Given the description of an element on the screen output the (x, y) to click on. 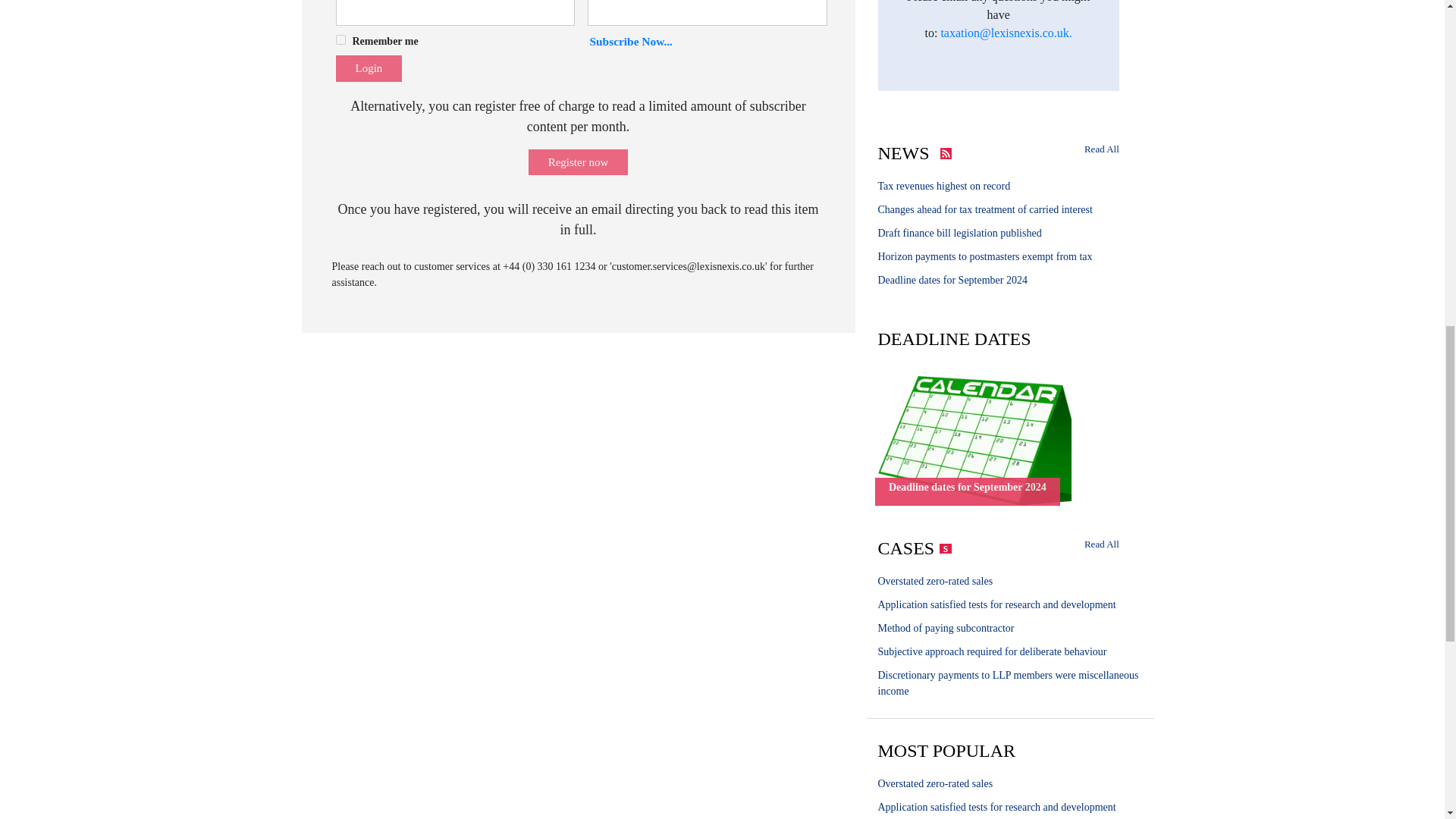
Login (367, 68)
true (339, 40)
